Given the description of an element on the screen output the (x, y) to click on. 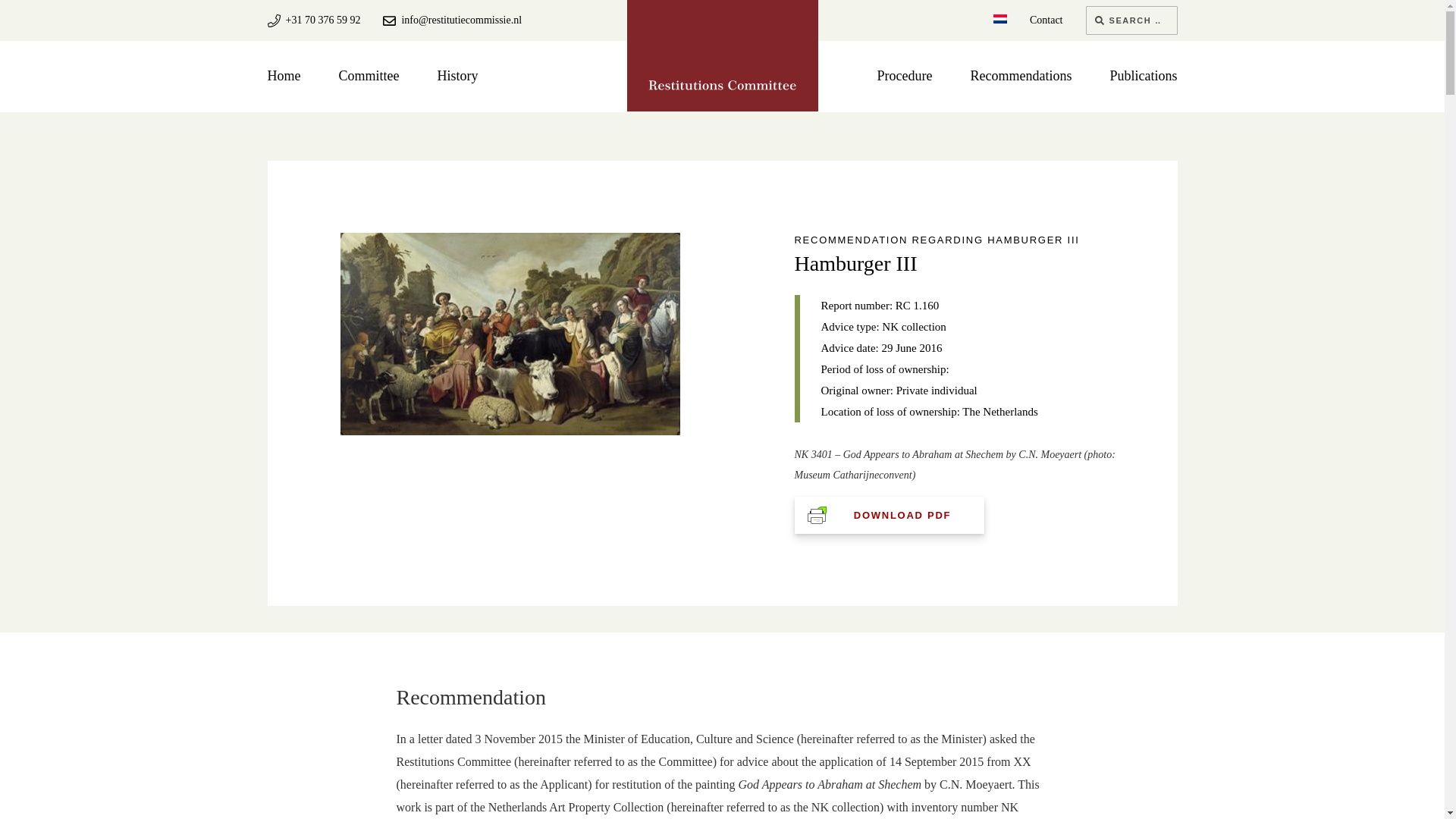
Search (1098, 20)
Search (1098, 20)
Contact (1045, 20)
Home Restitutiecommissie (721, 85)
Search (1098, 20)
DOWNLOAD PDF (889, 514)
Publications (1143, 75)
Recommendations (1021, 75)
